Given the description of an element on the screen output the (x, y) to click on. 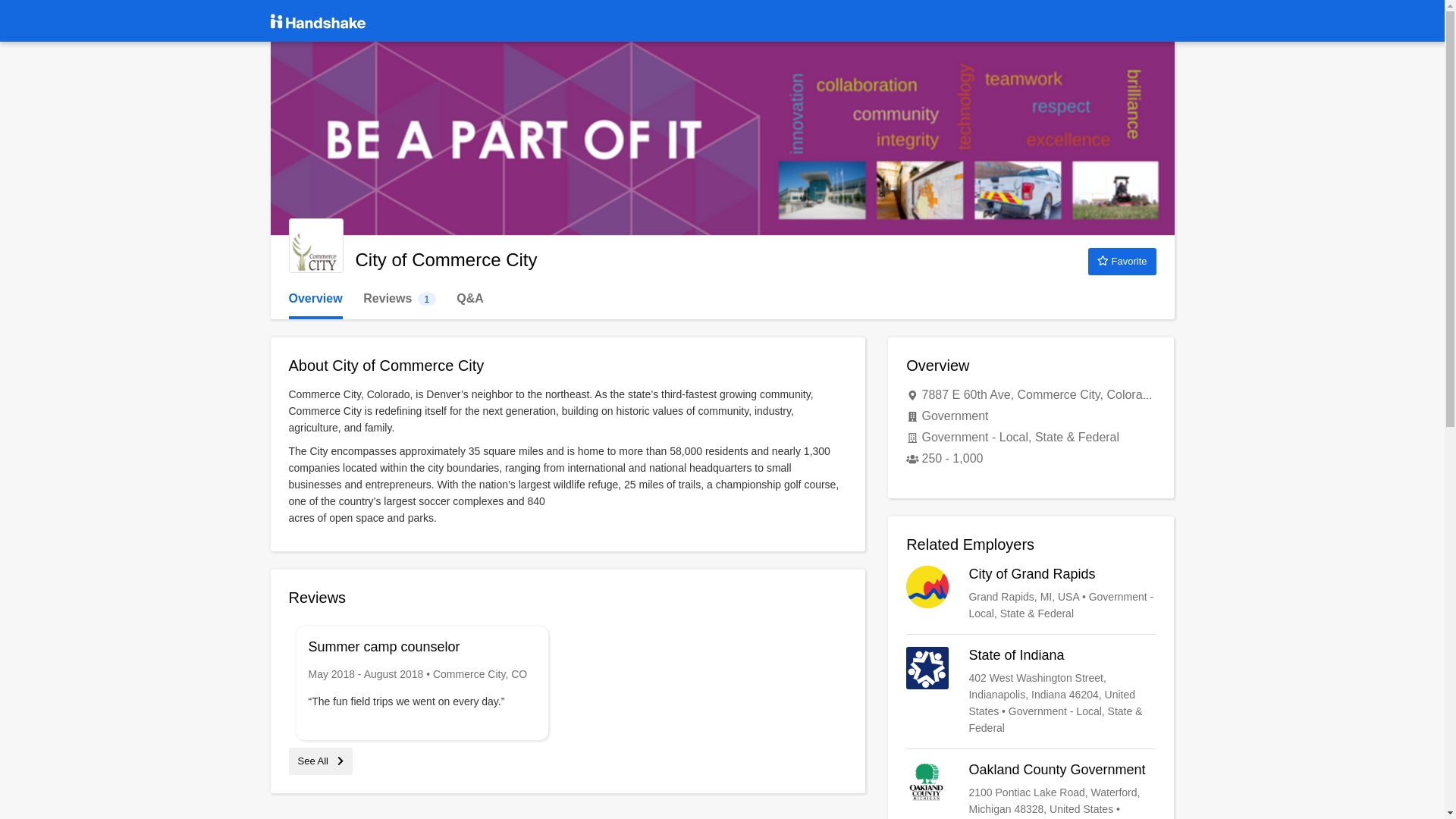
City of Grand Rapids (1030, 593)
Overview (315, 298)
Oakland County Government (1030, 790)
State of Indiana (1030, 691)
See All (320, 760)
Favorite (1121, 261)
City of Commerce City (315, 245)
